Given the description of an element on the screen output the (x, y) to click on. 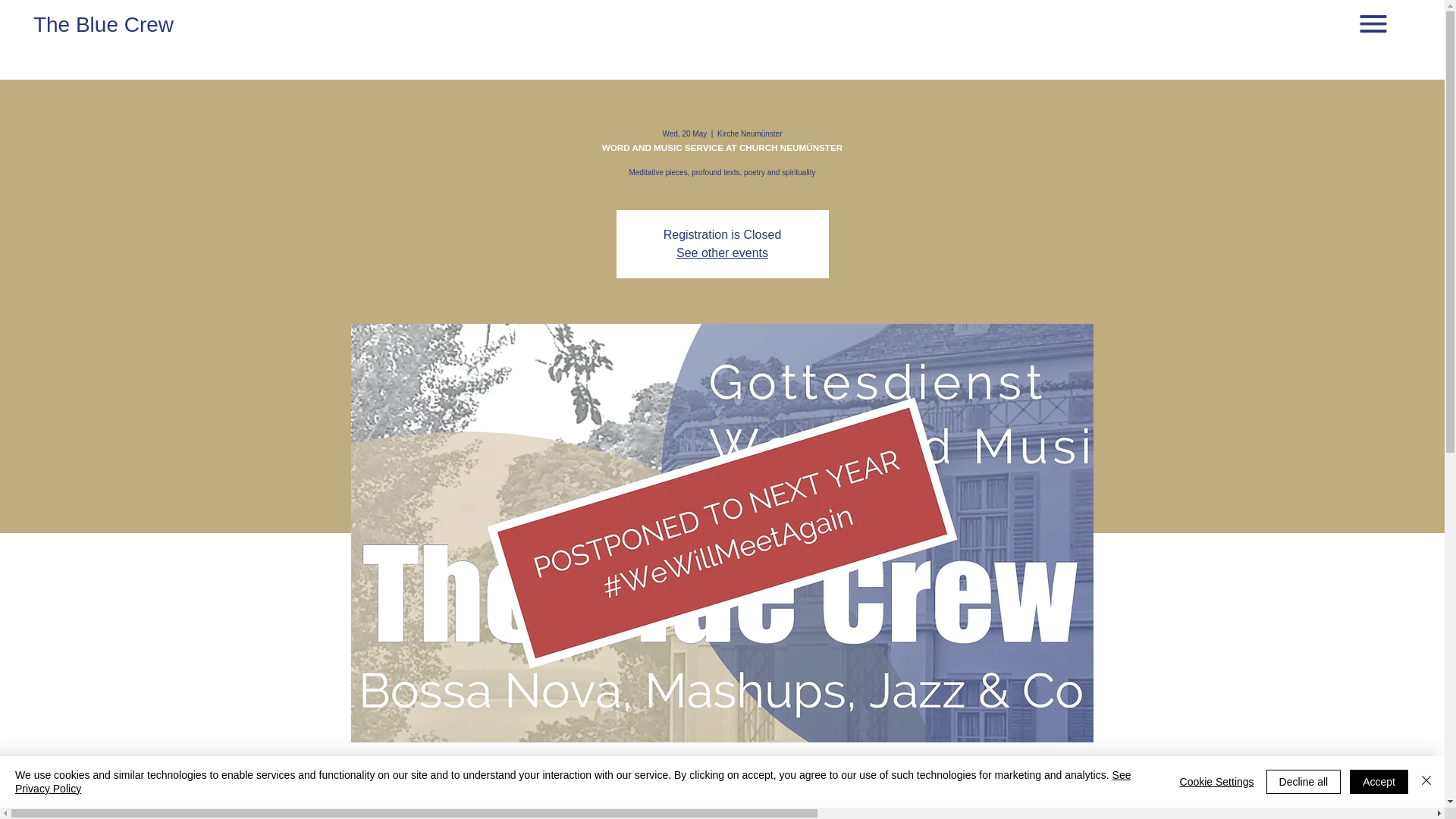
The Blue Crew (103, 24)
See other events (722, 252)
Accept (1378, 781)
Decline all (1303, 781)
See Privacy Policy (572, 781)
